Given the description of an element on the screen output the (x, y) to click on. 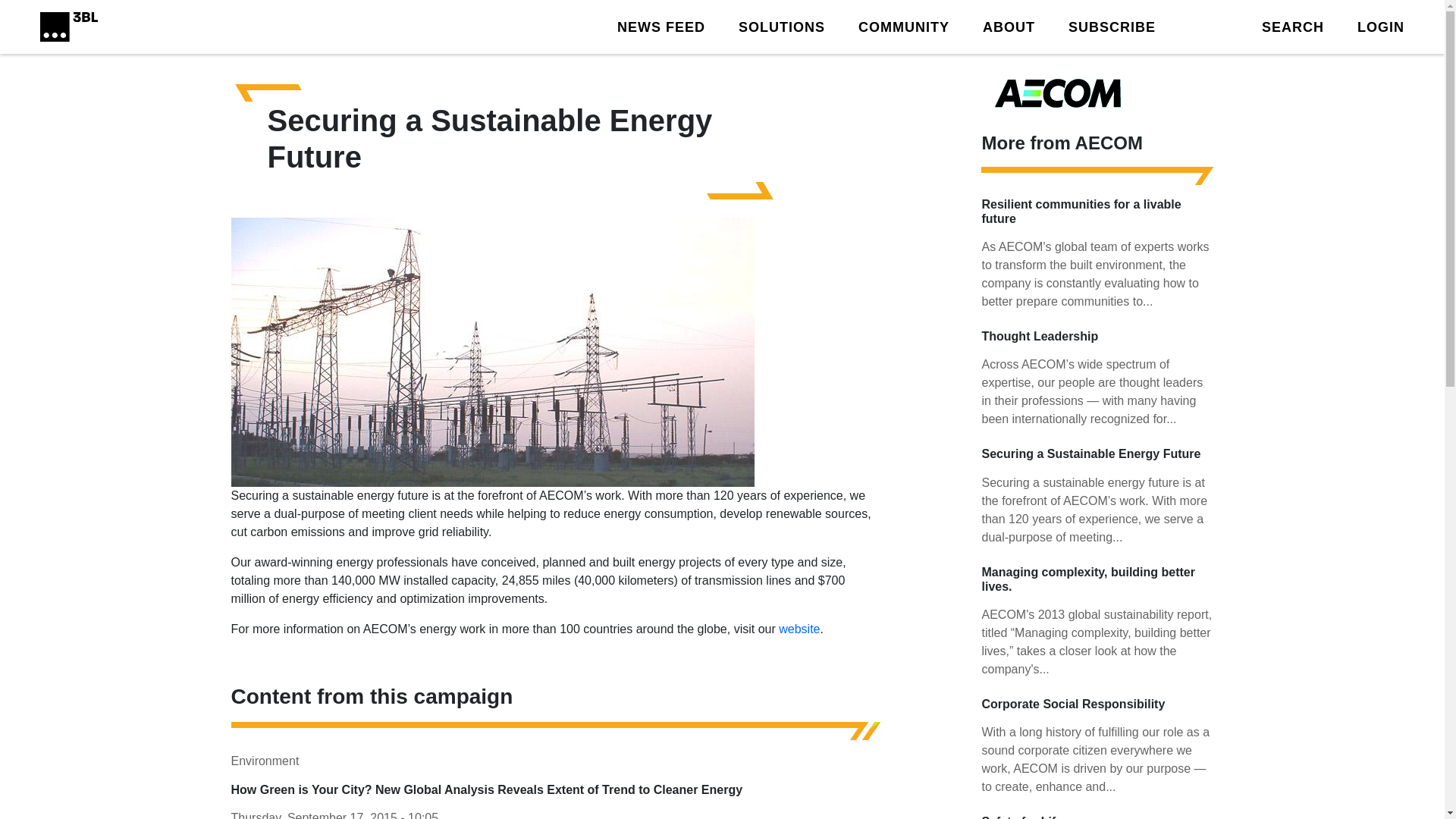
NEWS FEED (660, 26)
SOLUTIONS (781, 26)
ABOUT (1008, 26)
COMMUNITY (904, 26)
SUBSCRIBE (1112, 26)
